Given the description of an element on the screen output the (x, y) to click on. 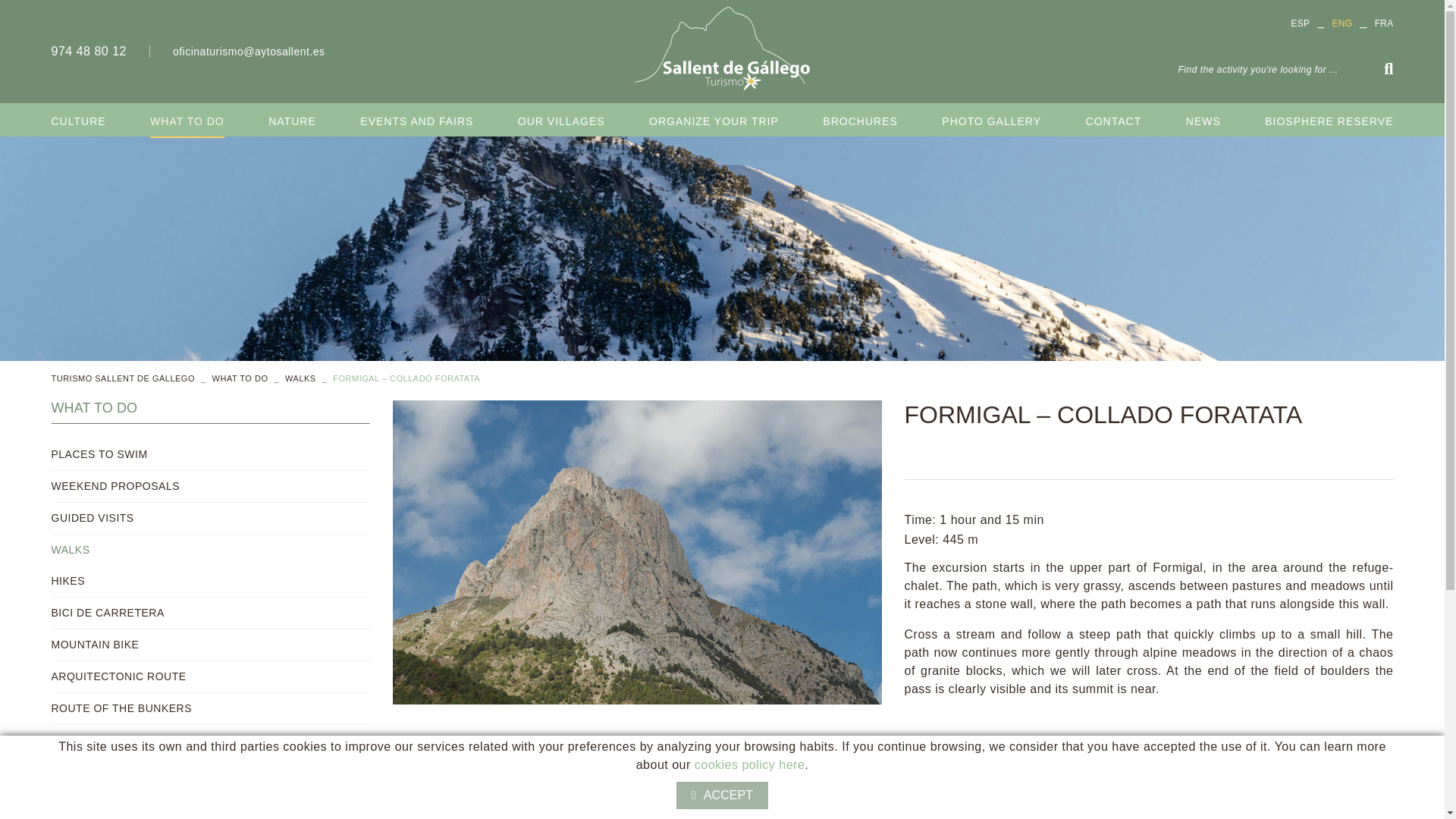
OUR VILLAGES (561, 121)
EVENTS AND FAIRS (416, 121)
Empresa (722, 48)
NATURE (291, 121)
CULTURE (78, 121)
ESP (1299, 23)
SEARCH (1384, 68)
WHAT TO DO (186, 121)
FRA (1383, 23)
